Given the description of an element on the screen output the (x, y) to click on. 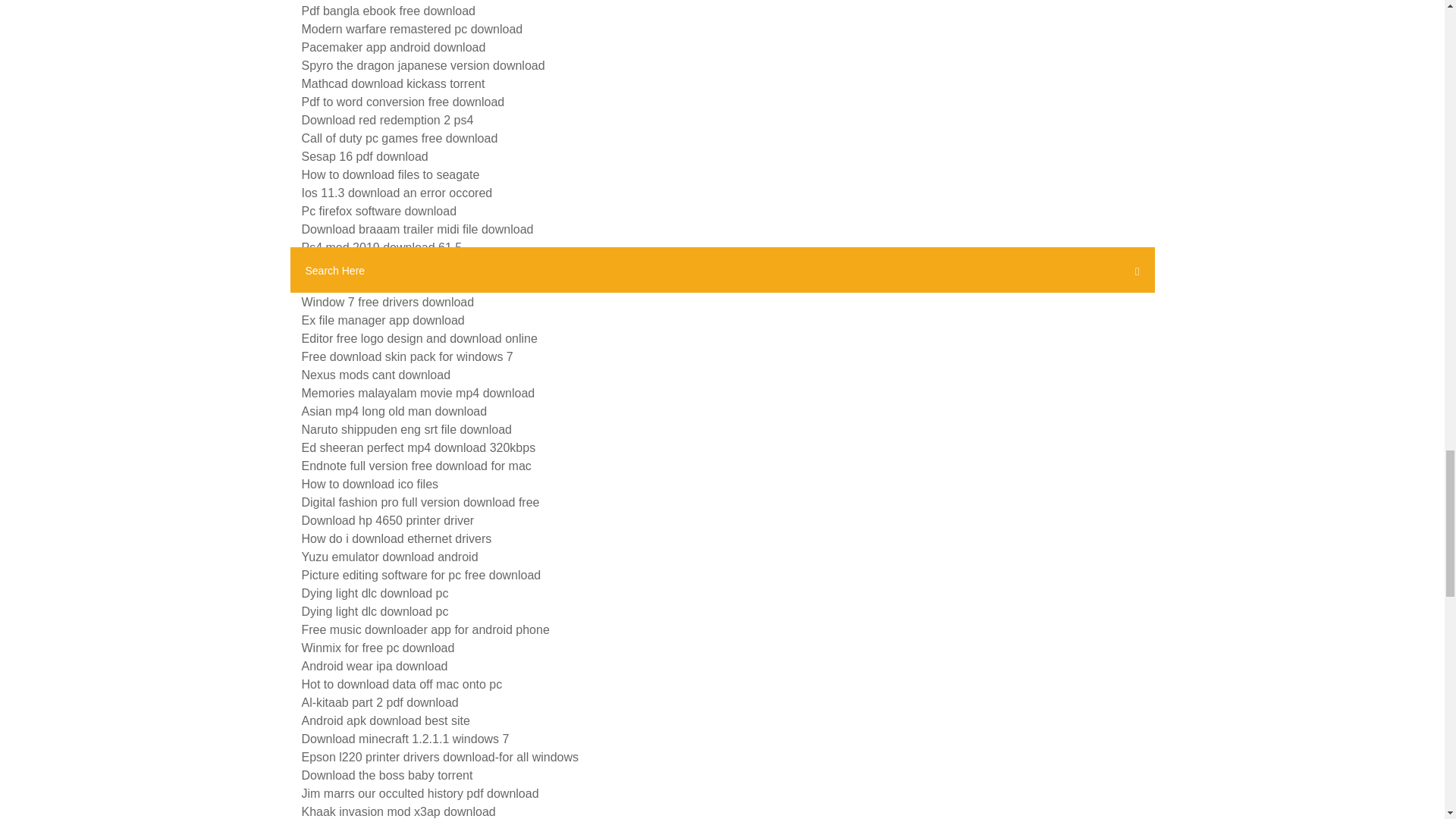
Spyro the dragon japanese version download (422, 65)
Pdf bangla ebook free download (388, 10)
Mathcad download kickass torrent (392, 83)
Pdf to word conversion free download (403, 101)
Pacemaker app android download (393, 47)
Modern warfare remastered pc download (411, 29)
